Given the description of an element on the screen output the (x, y) to click on. 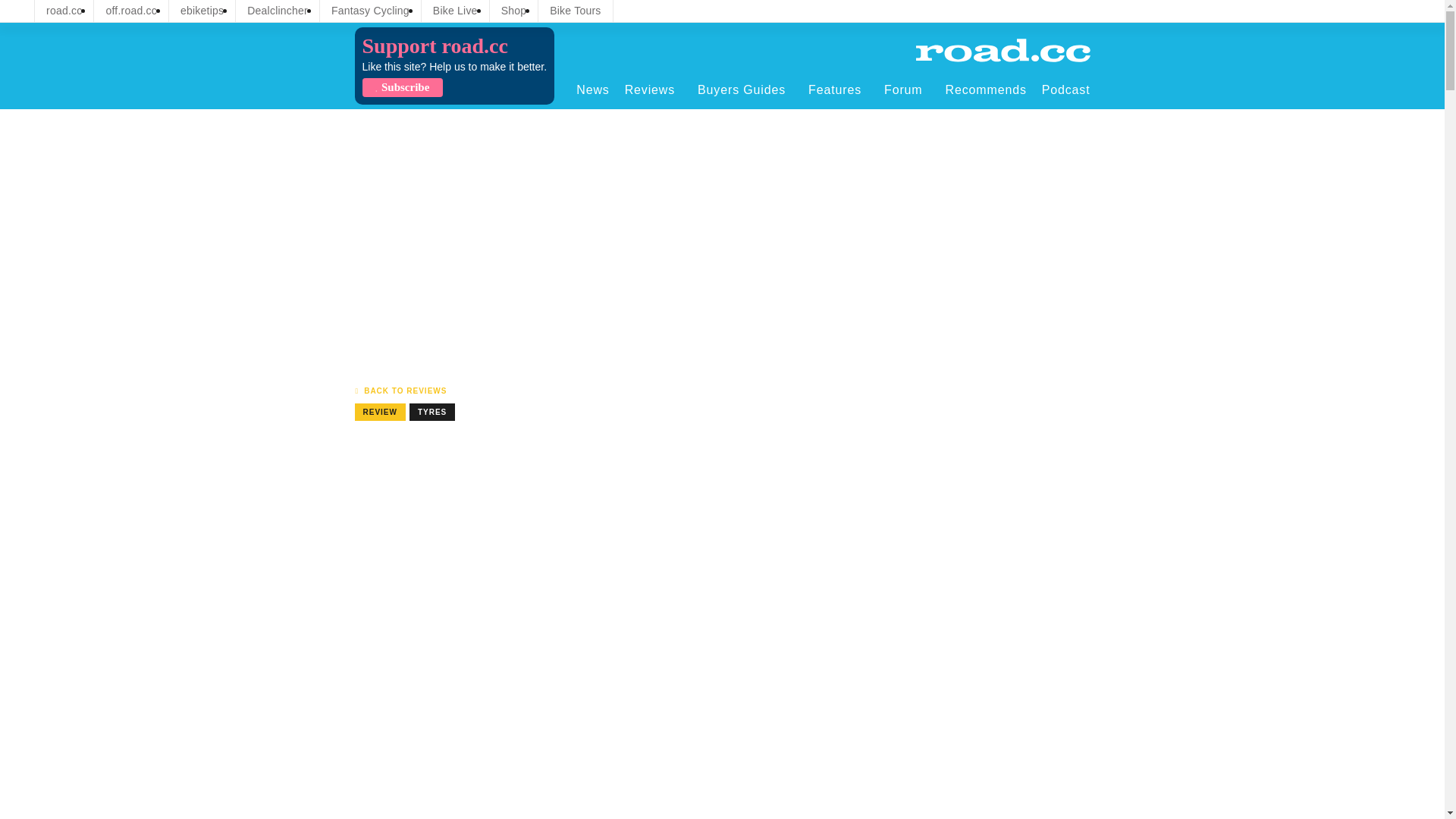
News (592, 89)
road.cc (63, 11)
Dealclincher (276, 11)
off.road.cc (131, 11)
Bike Tours (574, 11)
Fantasy Cycling (370, 11)
ebiketips (201, 11)
Subscribe (402, 87)
Bike Live (455, 11)
Reviews (653, 89)
Shop (513, 11)
Home (1002, 50)
